Given the description of an element on the screen output the (x, y) to click on. 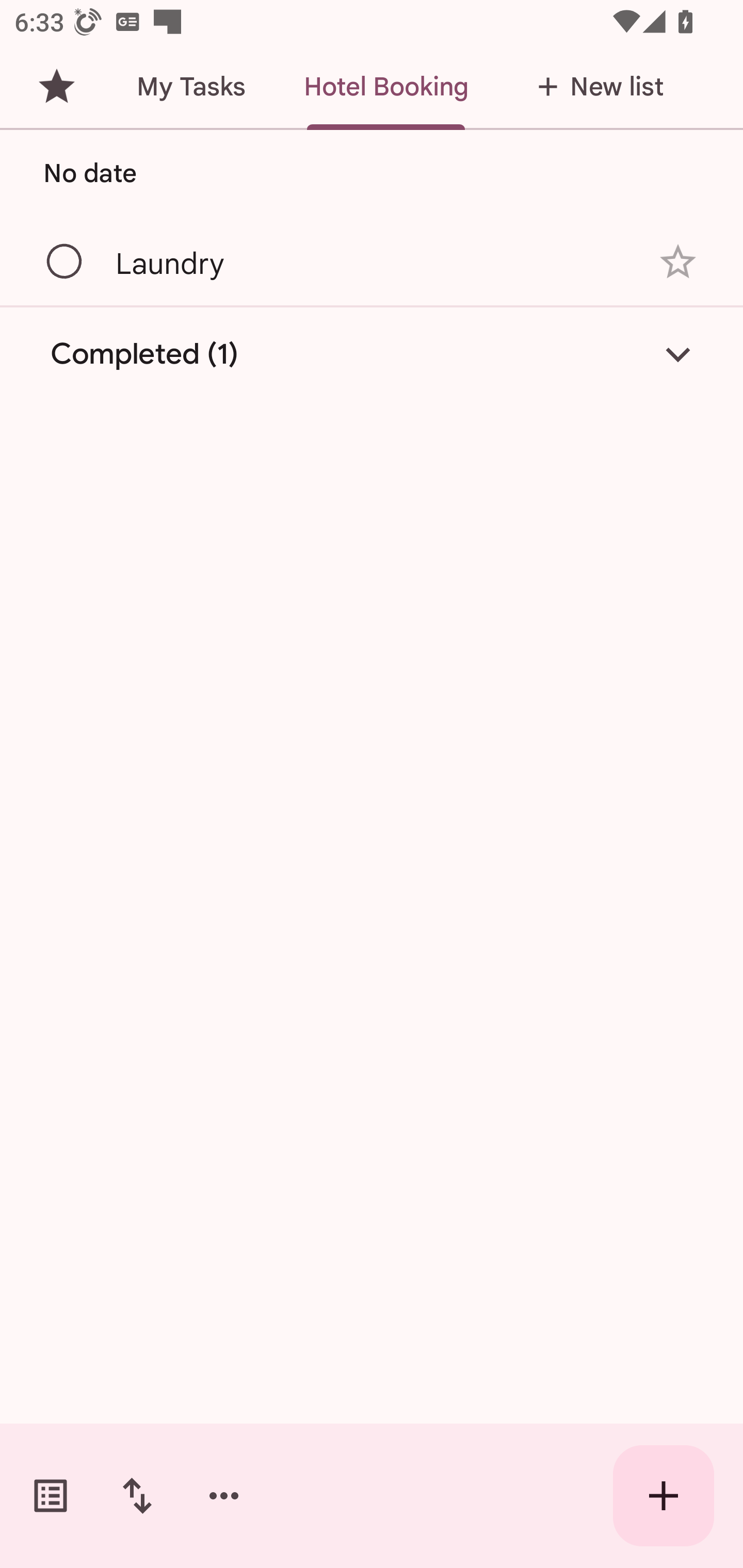
Starred (55, 86)
My Tasks (190, 86)
New list (594, 86)
Laundry Laundry Add star Mark as complete (371, 260)
Add star (677, 261)
Mark as complete (64, 261)
Completed (1) (371, 354)
Switch task lists (50, 1495)
Create new task (663, 1495)
Change sort order (136, 1495)
More options (223, 1495)
